Given the description of an element on the screen output the (x, y) to click on. 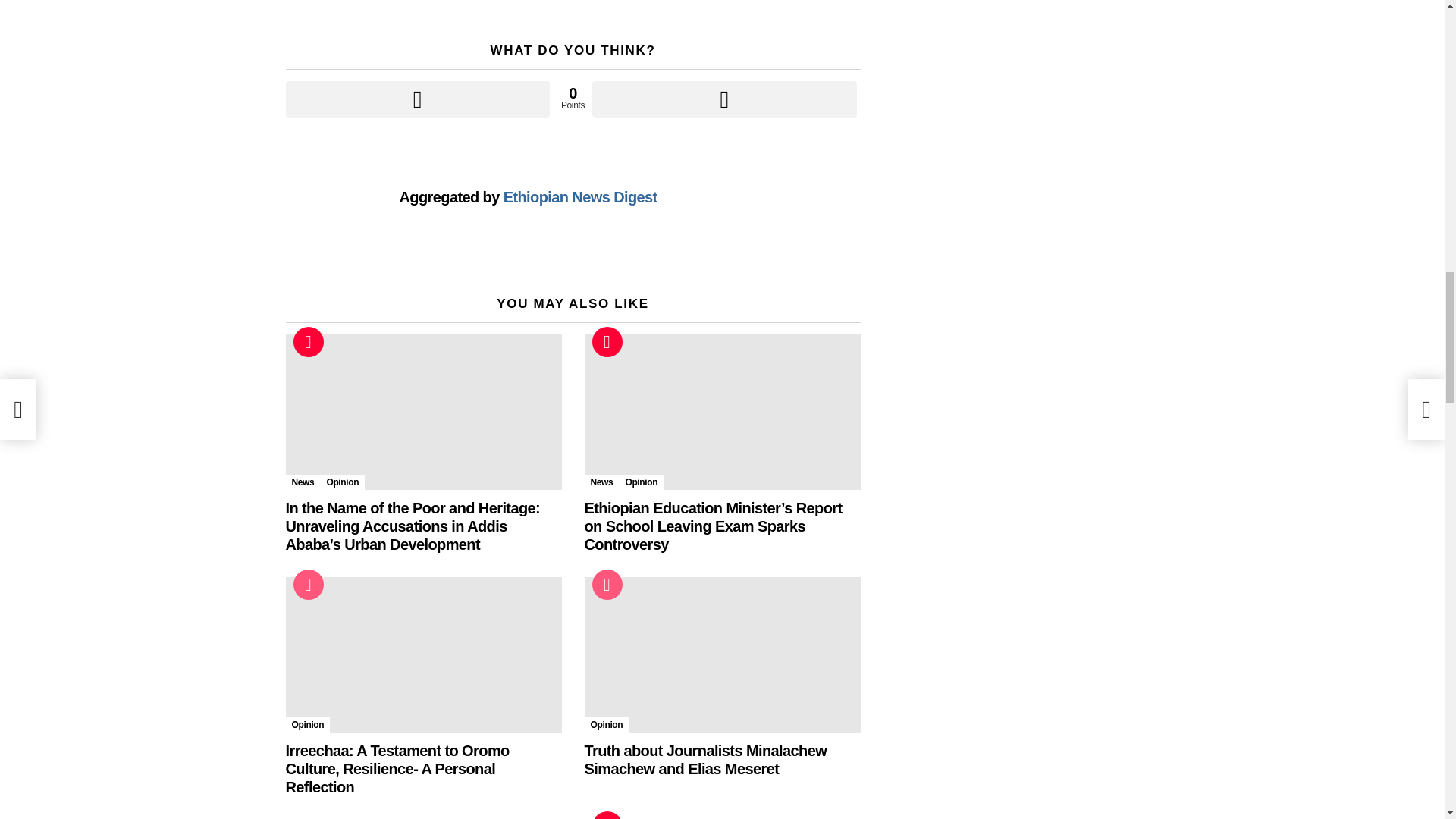
Downvote (724, 99)
Hot (307, 341)
Opinion (342, 482)
Downvote (724, 99)
Ethiopian News Digest (580, 197)
Popular (606, 584)
Hot (307, 341)
Upvote (416, 99)
Opinion (640, 482)
Upvote (416, 99)
Opinion (605, 724)
Popular (307, 584)
Popular (307, 584)
